Given the description of an element on the screen output the (x, y) to click on. 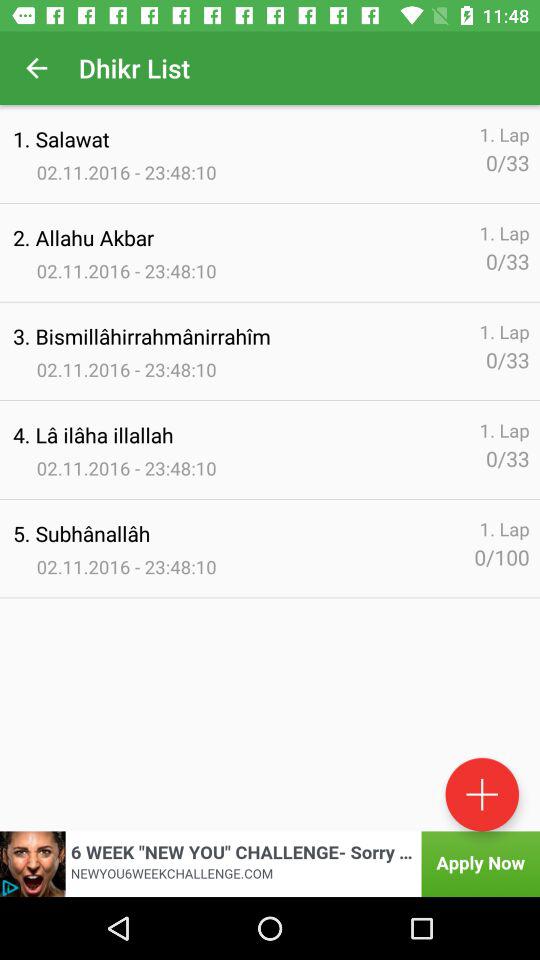
turn off the item at the bottom right corner (482, 794)
